Given the description of an element on the screen output the (x, y) to click on. 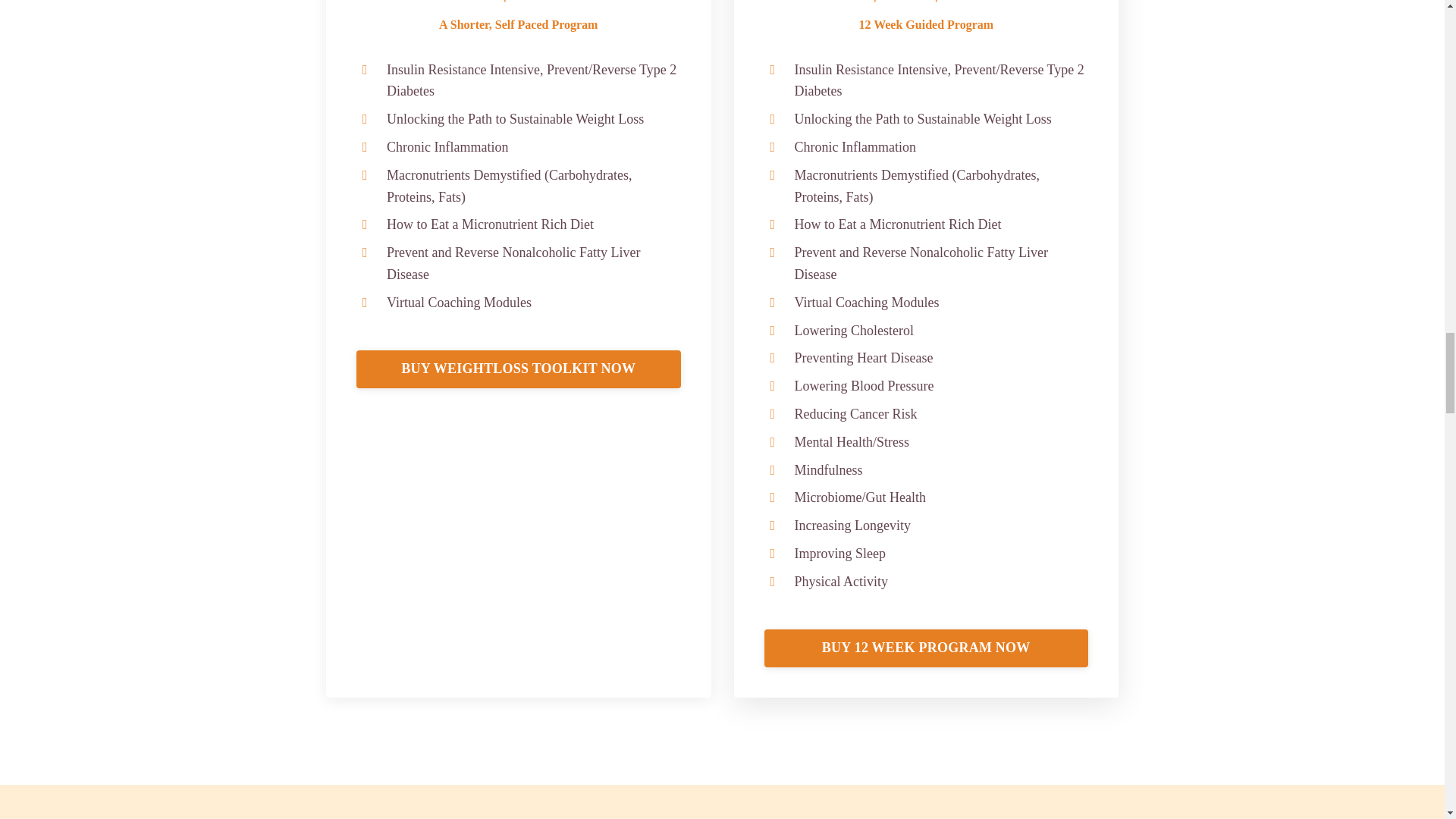
BUY 12 WEEK PROGRAM NOW (926, 648)
BUY WEIGHTLOSS TOOLKIT NOW (518, 369)
